Given the description of an element on the screen output the (x, y) to click on. 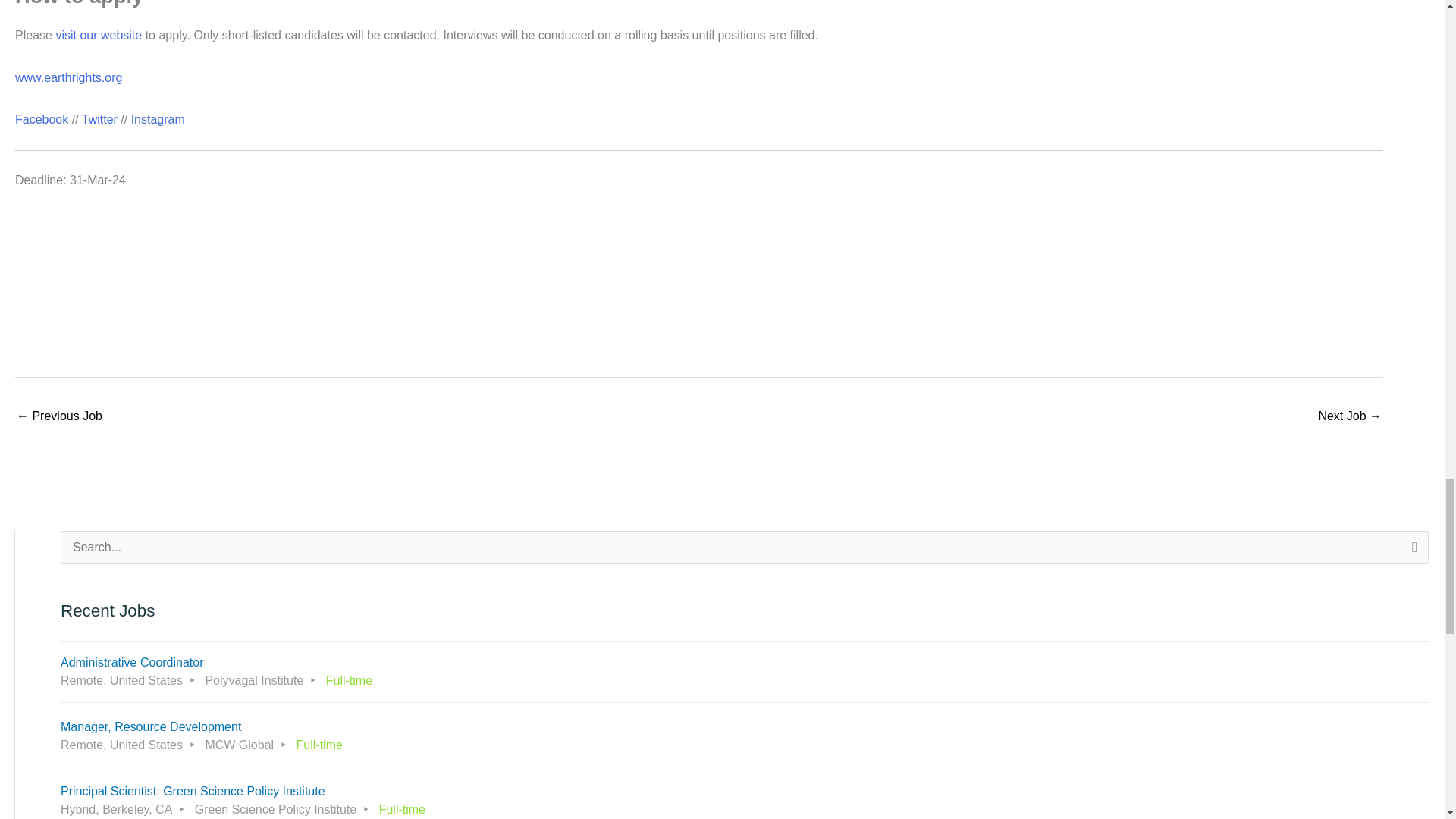
Earth Rights Defenders Program Coordinator (58, 417)
www.earthrights.org (68, 77)
Twitter (99, 119)
Facebook (41, 119)
Partnerships Manager (1349, 417)
Instagram (157, 119)
visit our website (98, 34)
